Given the description of an element on the screen output the (x, y) to click on. 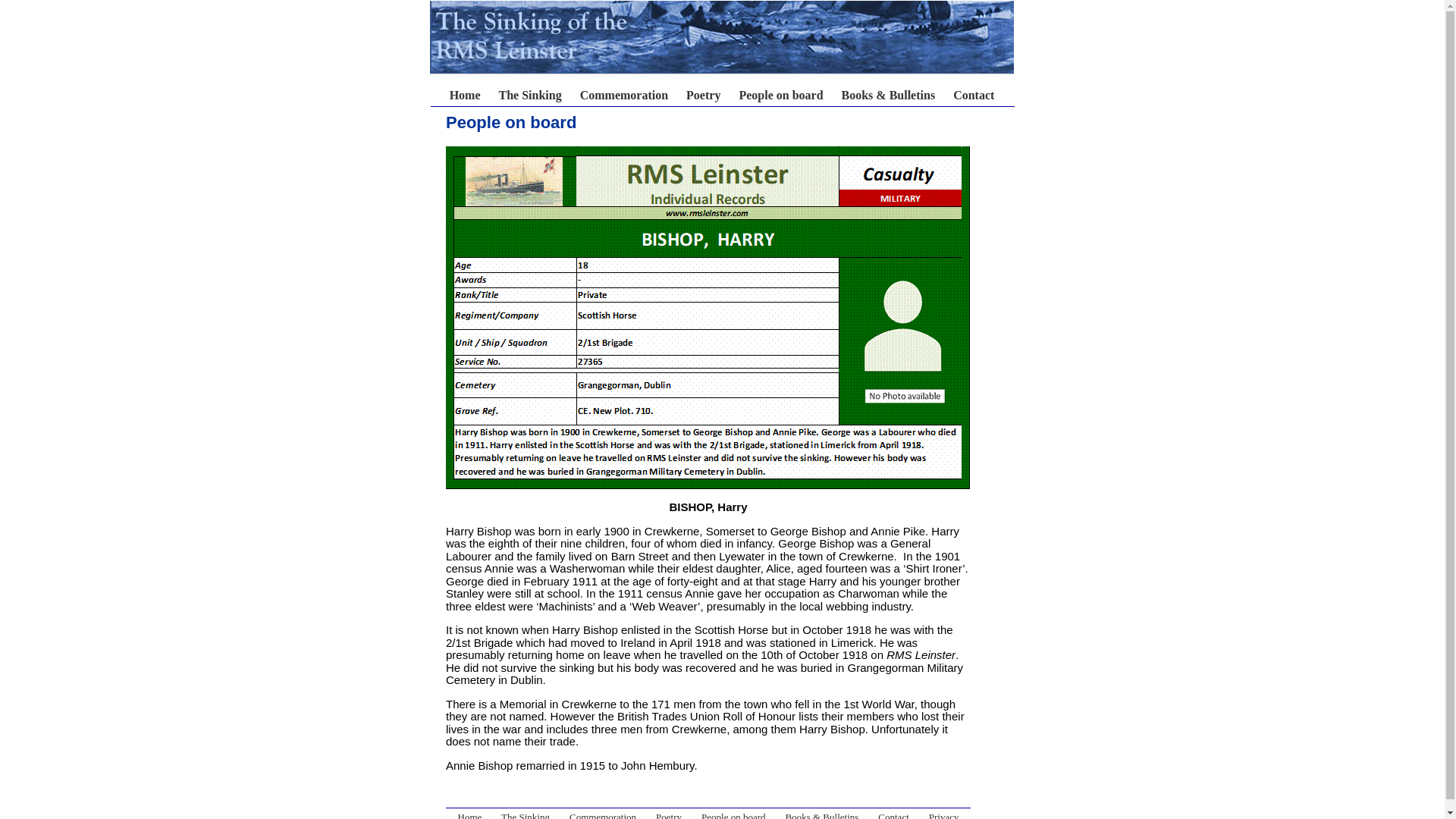
People on board (780, 94)
Poetry (668, 815)
The Sinking (525, 815)
Commemoration (602, 815)
Poetry (702, 94)
Home (585, 101)
Home (469, 815)
Contact (973, 94)
People on board (733, 815)
The Sinking (530, 94)
